Given the description of an element on the screen output the (x, y) to click on. 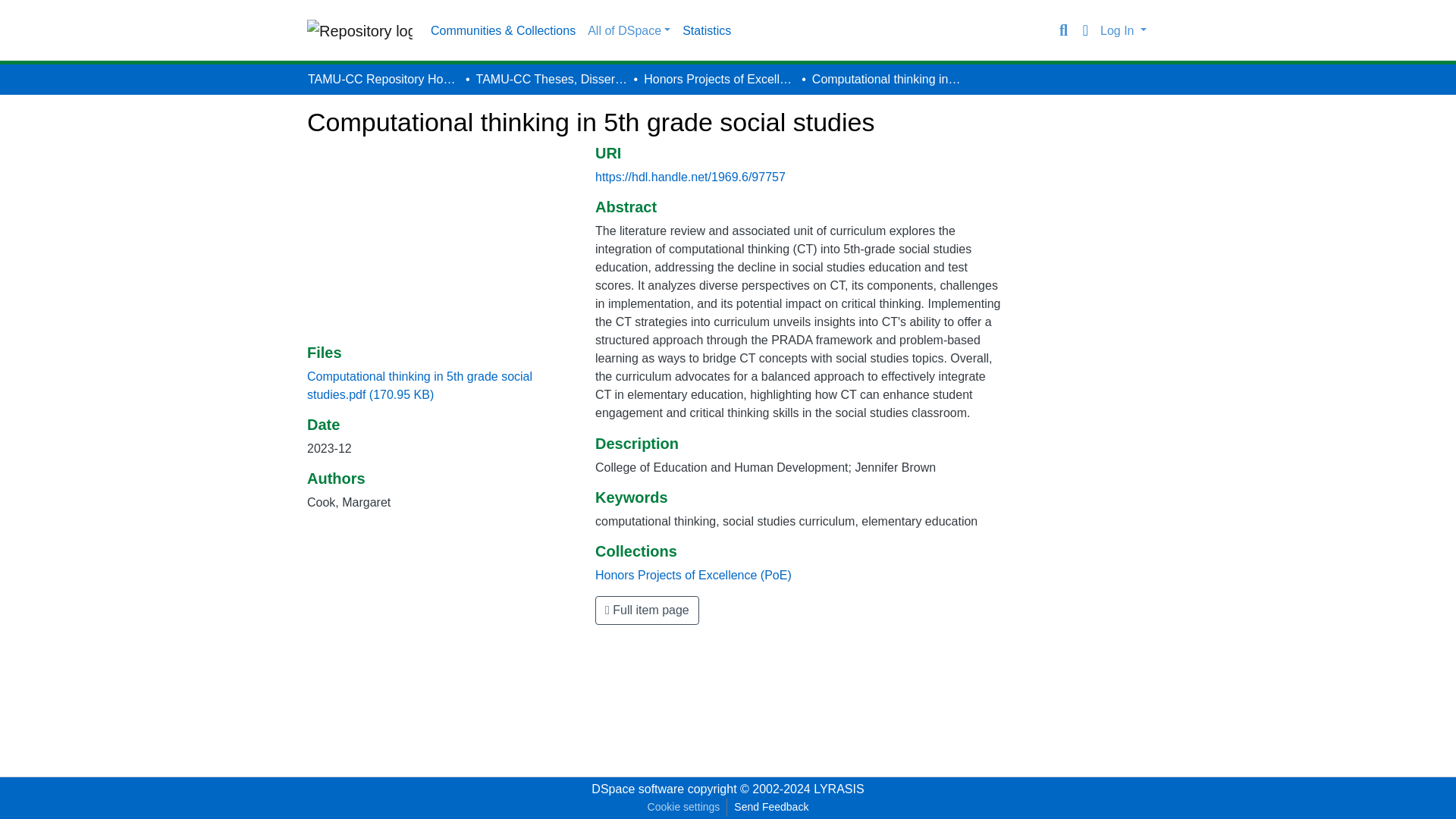
LYRASIS (838, 788)
Send Feedback (770, 806)
Log In (1122, 30)
DSpace software (637, 788)
Statistics (706, 30)
Search (1063, 30)
Cookie settings (683, 806)
Language switch (1084, 30)
TAMU-CC Repository Home (383, 79)
TAMU-CC Theses, Dissertations, and Other Projects (551, 79)
